Given the description of an element on the screen output the (x, y) to click on. 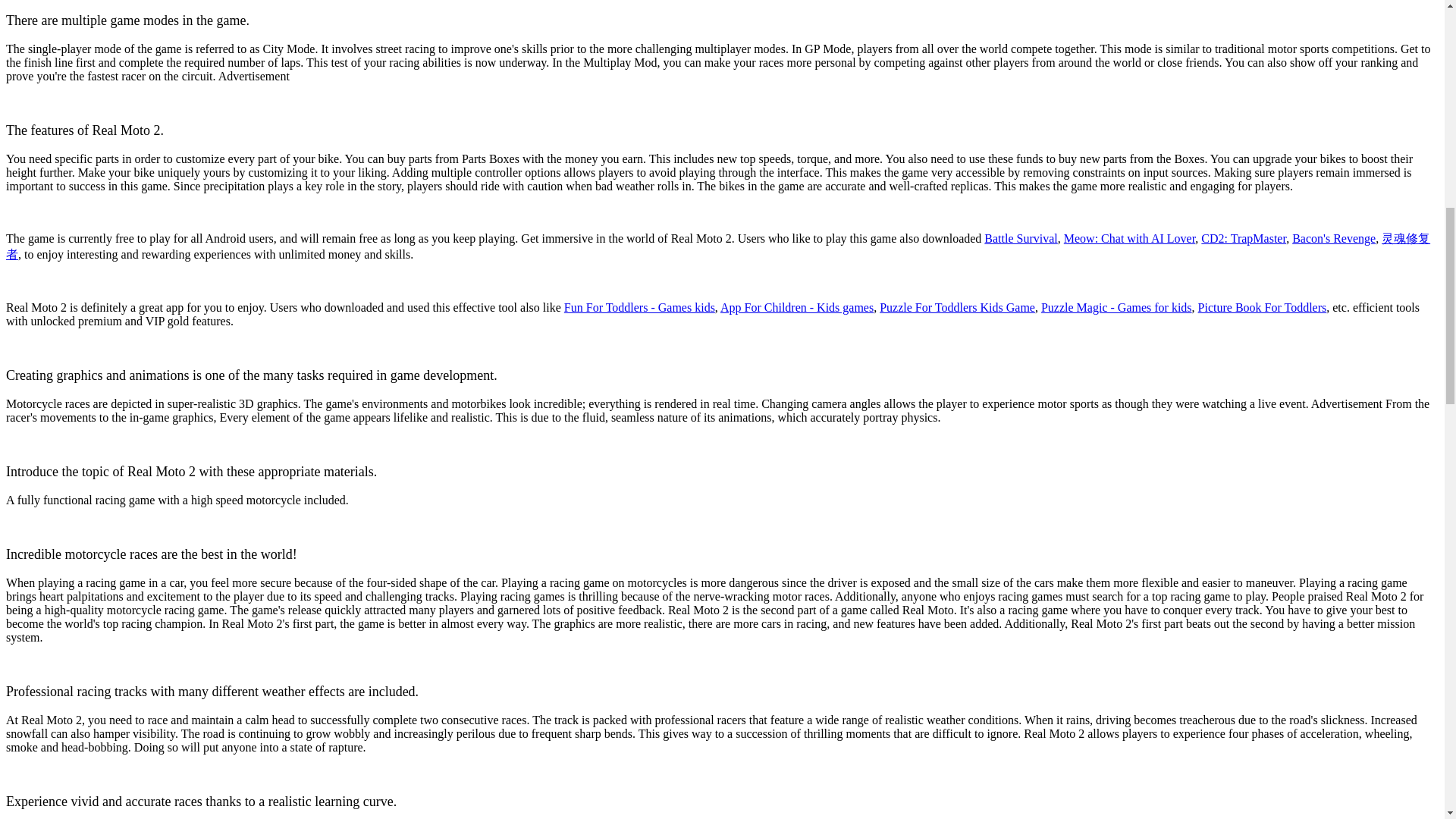
Meow: Chat with AI Lover (1129, 237)
CD2: TrapMaster (1243, 237)
Picture Book For Toddlers (1262, 307)
Puzzle For Toddlers Kids Game (957, 307)
App For Children - Kids games (796, 307)
Battle Survival (1020, 237)
Puzzle Magic - Games for kids (1116, 307)
Bacon's Revenge (1333, 237)
Fun For Toddlers - Games kids (639, 307)
